Given the description of an element on the screen output the (x, y) to click on. 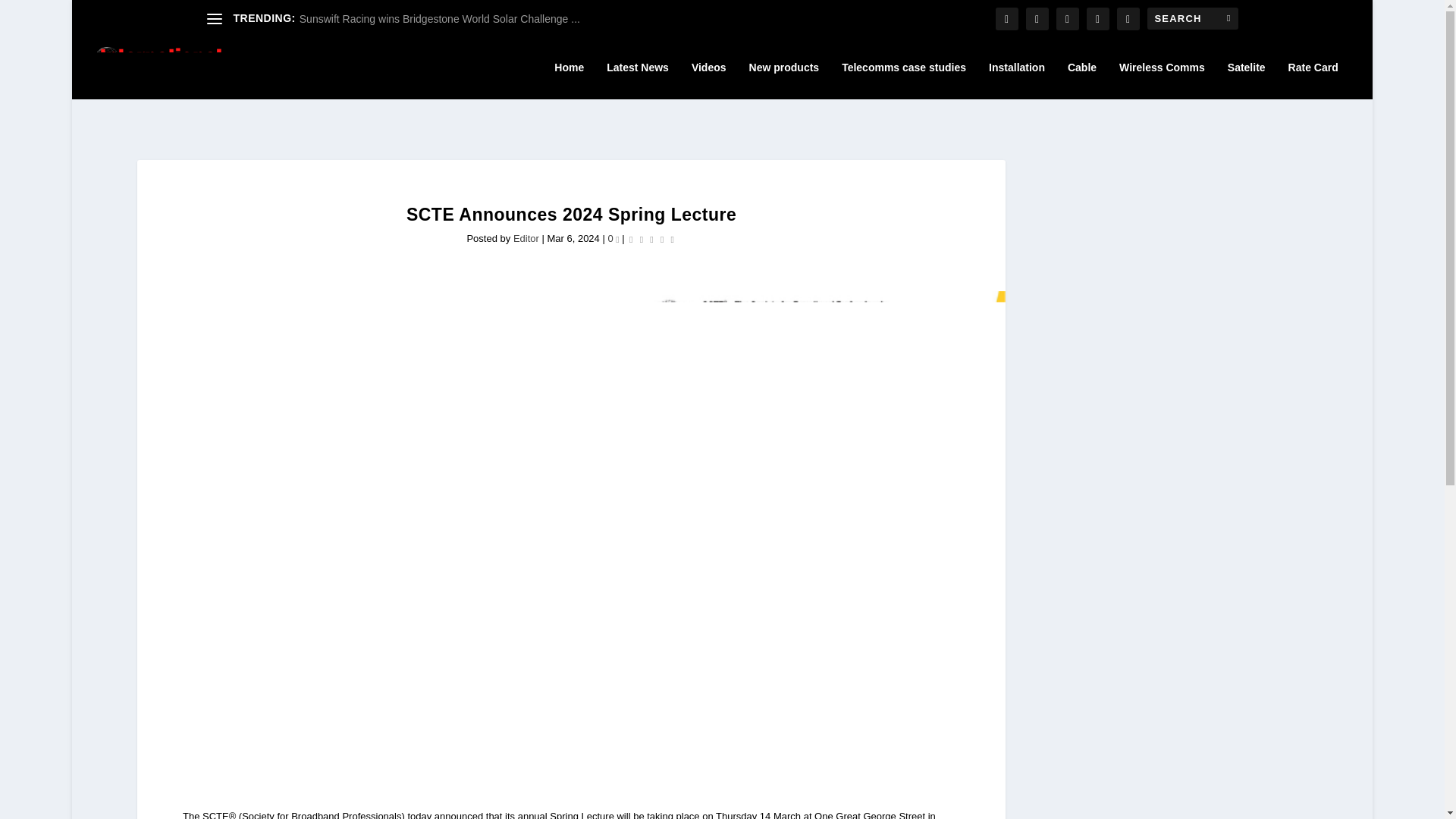
Telecomms case studies (903, 80)
Editor (525, 238)
Wireless Comms (1162, 80)
Installation (1016, 80)
Posts by Editor (525, 238)
Latest News (637, 80)
New products (784, 80)
Sunswift Racing wins Bridgestone World Solar Challenge ... (439, 19)
0 (612, 238)
Search for: (1192, 18)
Satelite (1246, 80)
Rating: 0.00 (652, 238)
Videos (708, 80)
